Given the description of an element on the screen output the (x, y) to click on. 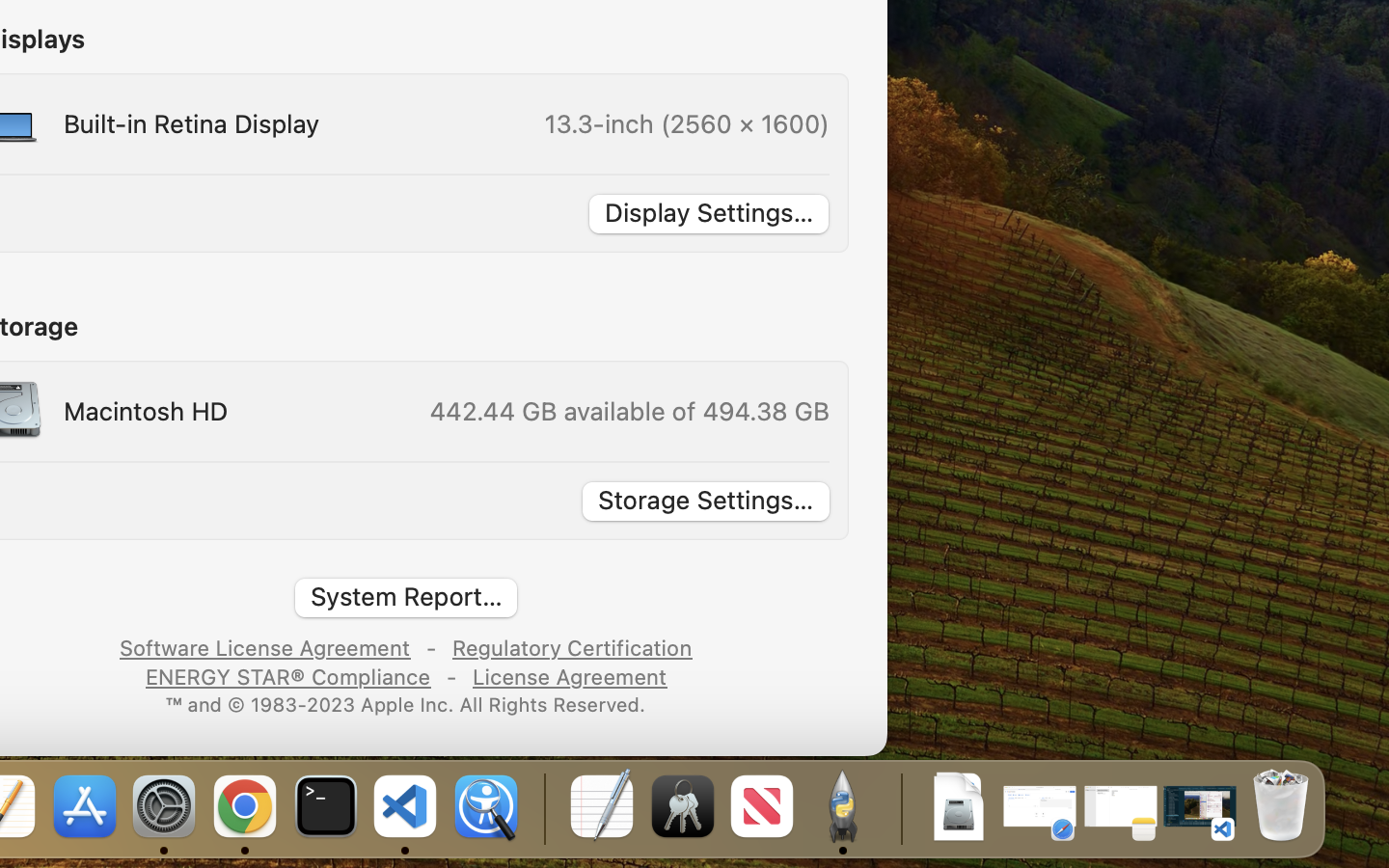
ENERGY STAR® Compliance Element type: AXStaticText (287, 674)
0.4285714328289032 Element type: AXDockItem (541, 807)
License Agreement Element type: AXStaticText (567, 674)
13.3-inch (2560 × 1600) Element type: AXStaticText (686, 123)
442.44 GB available of 494.38 GB Element type: AXStaticText (627, 410)
